Given the description of an element on the screen output the (x, y) to click on. 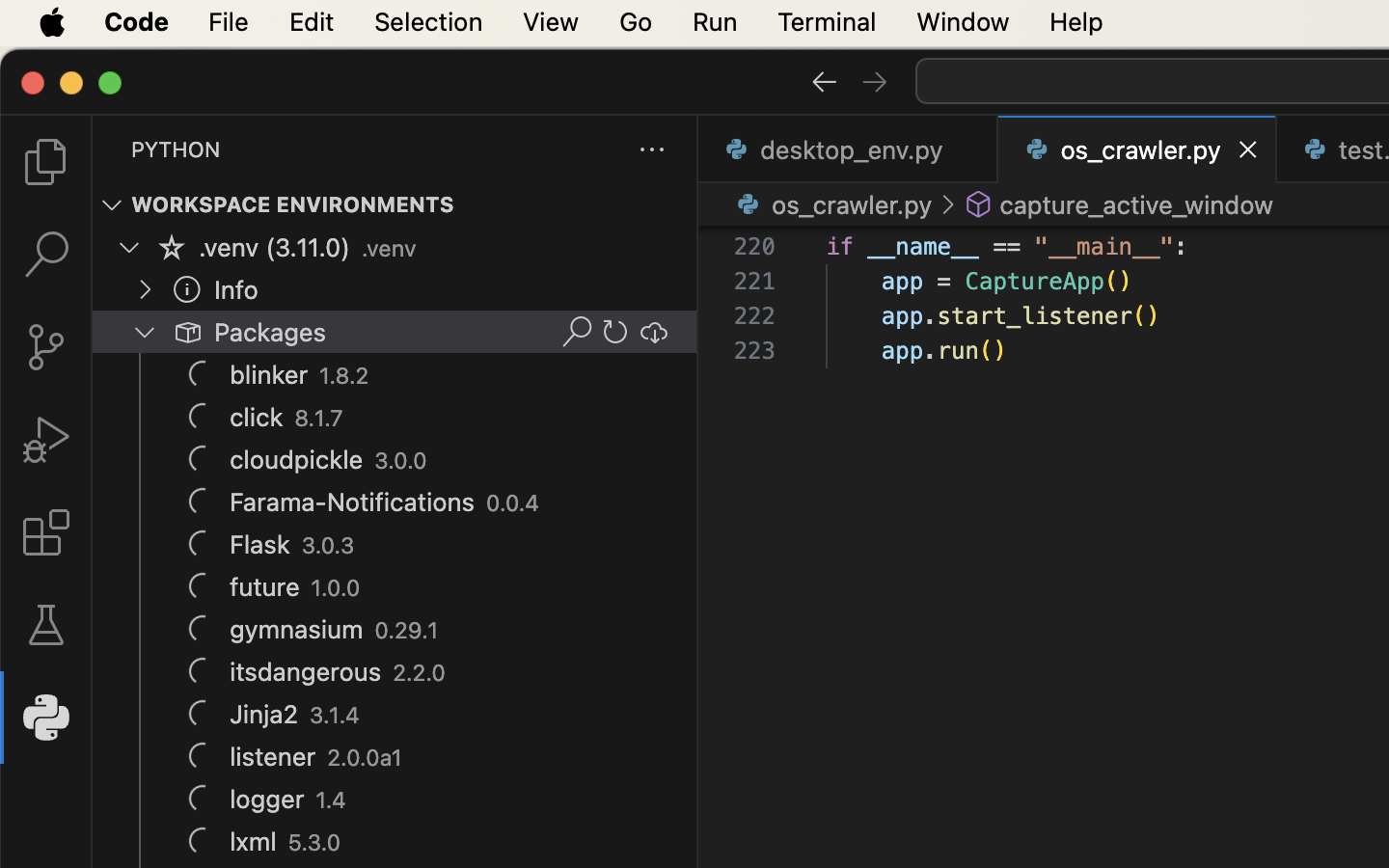
Jinja2 Element type: AXStaticText (264, 714)
 Element type: AXGroup (46, 254)
 Element type: AXButton (615, 331)
1.4 Element type: AXStaticText (331, 799)
1.8.2 Element type: AXStaticText (345, 375)
